Given the description of an element on the screen output the (x, y) to click on. 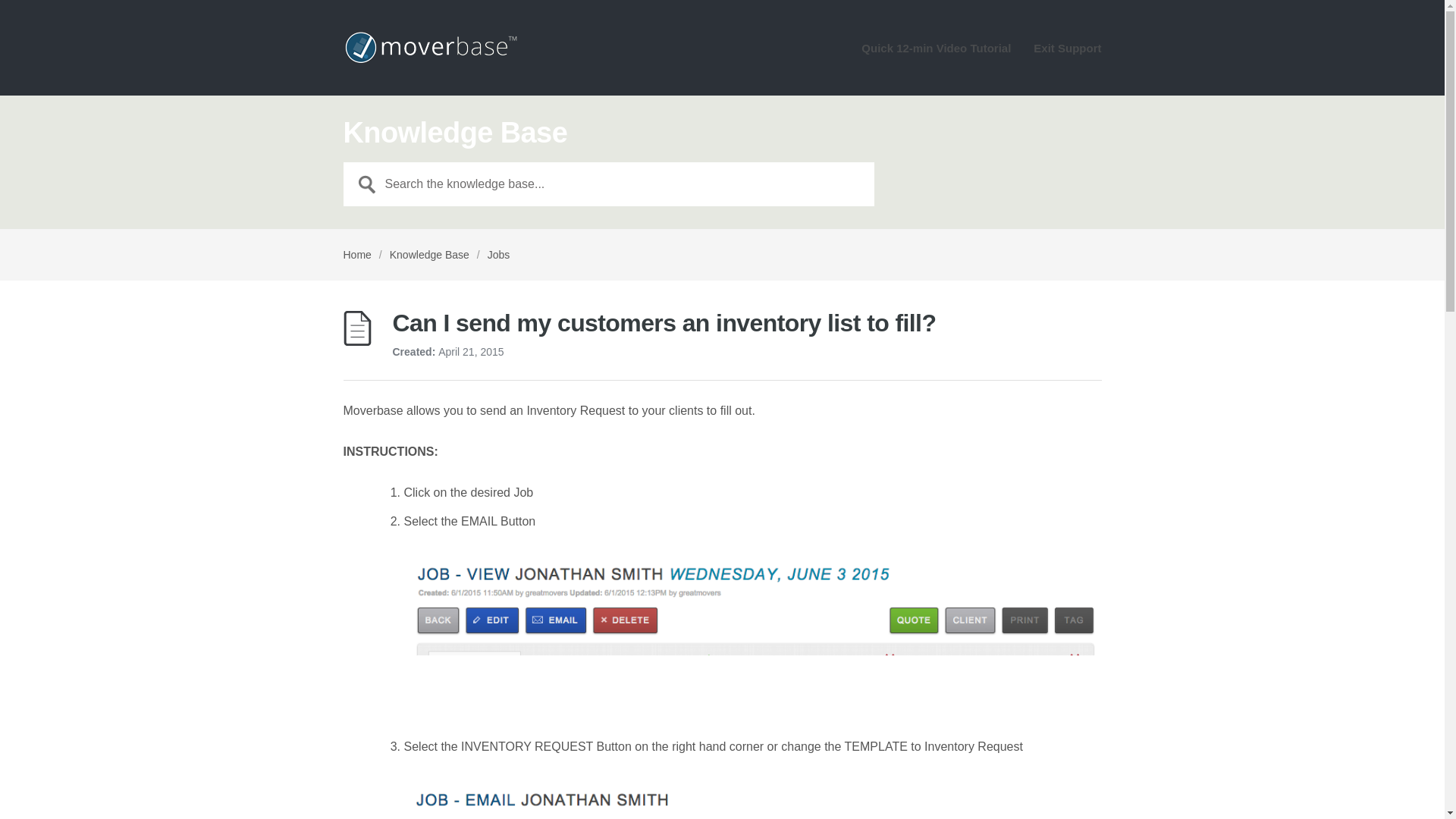
Search the knowledge base... (607, 184)
Home (356, 254)
Jobs (499, 254)
Quick 12-min Video Tutorial (935, 53)
Exit Support (1066, 53)
Knowledge Base (429, 254)
Moverbase Support (429, 47)
